Given the description of an element on the screen output the (x, y) to click on. 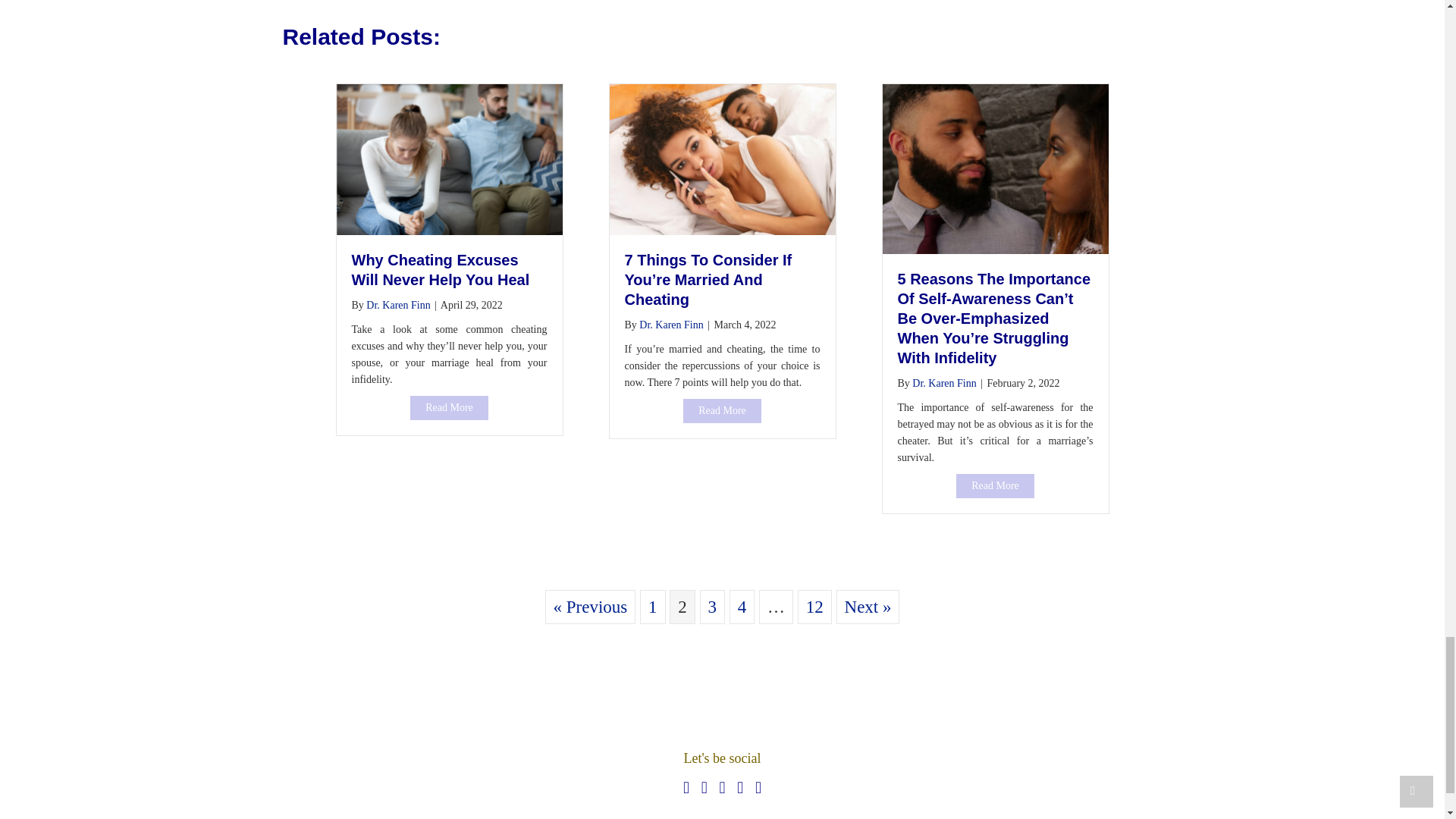
Why Cheating Excuses Will Never Help You Heal (449, 157)
Why Cheating Excuses Will Never Help You Heal (440, 269)
Why Cheating Excuses Will Never Help You Heal (448, 407)
